Given the description of an element on the screen output the (x, y) to click on. 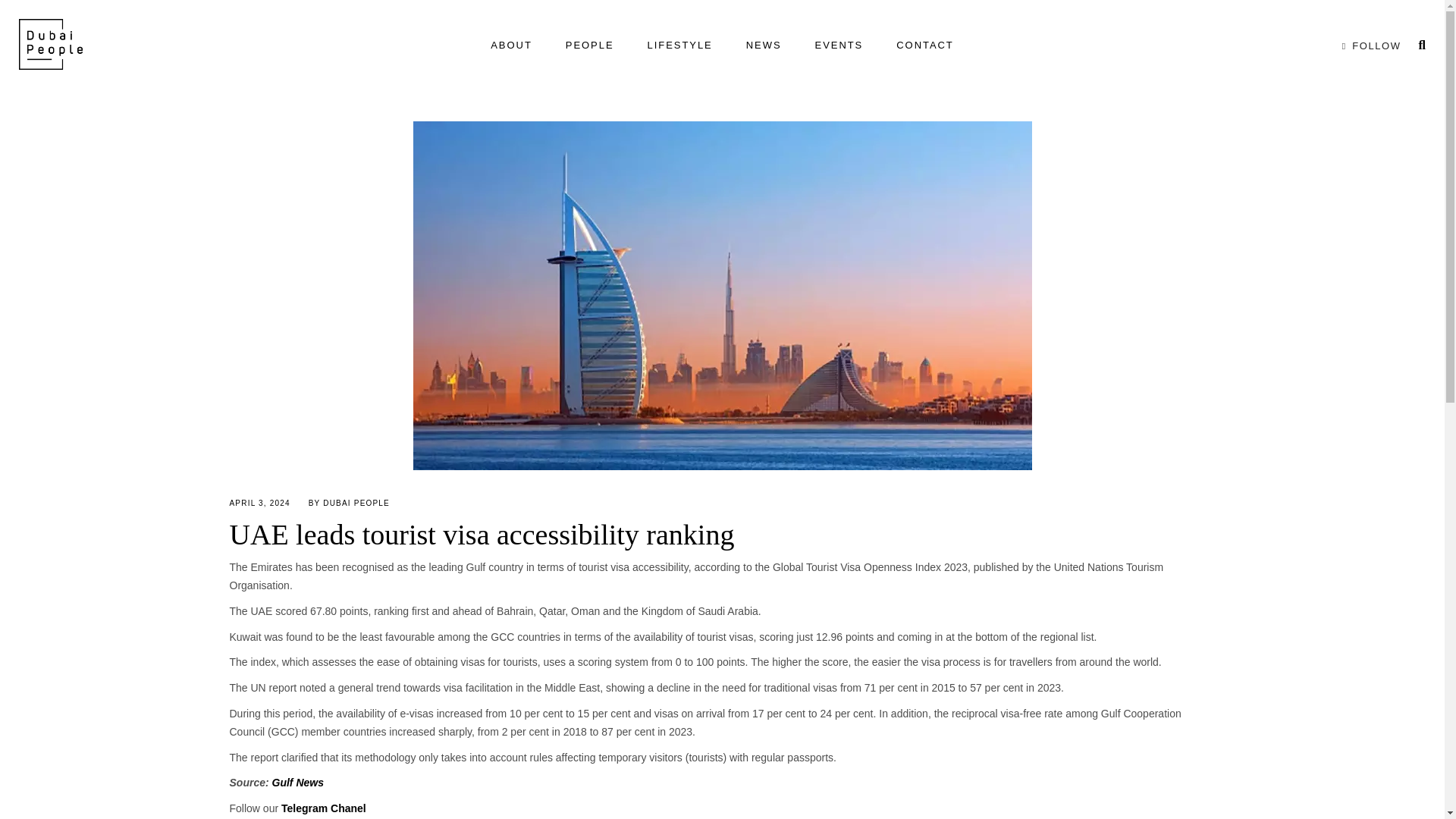
FOLLOW (1368, 45)
LIFESTYLE (679, 45)
EVENTS (838, 45)
APRIL 3, 2024 (258, 502)
Gulf News (297, 782)
CONTACT (925, 45)
DUBAI PEOPLE (356, 502)
ABOUT (511, 45)
PEOPLE (589, 45)
Telegram Chanel (323, 808)
